Given the description of an element on the screen output the (x, y) to click on. 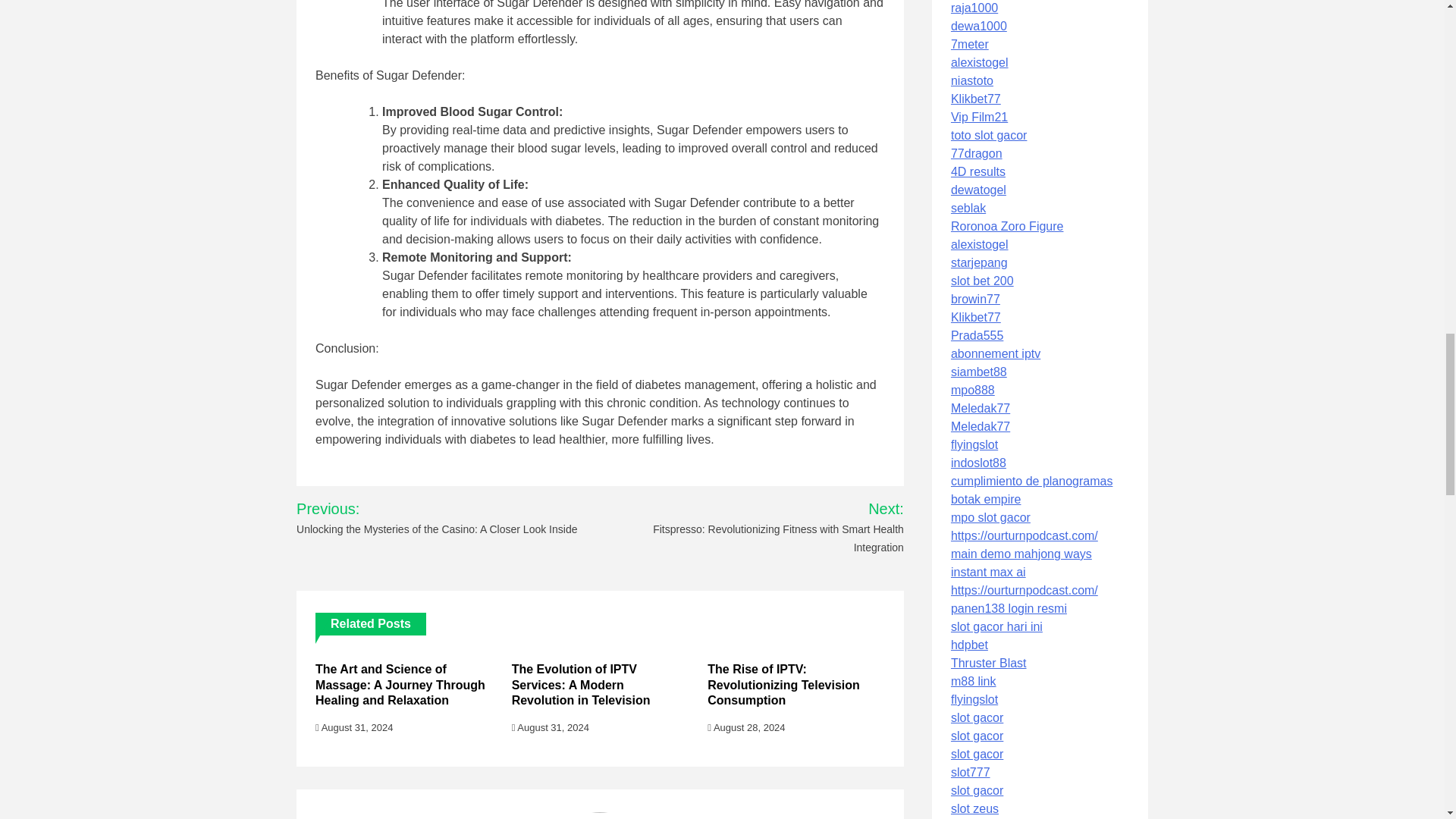
August 28, 2024 (745, 727)
The Rise of IPTV: Revolutionizing Television Consumption (783, 684)
August 31, 2024 (354, 727)
August 31, 2024 (550, 727)
